Given the description of an element on the screen output the (x, y) to click on. 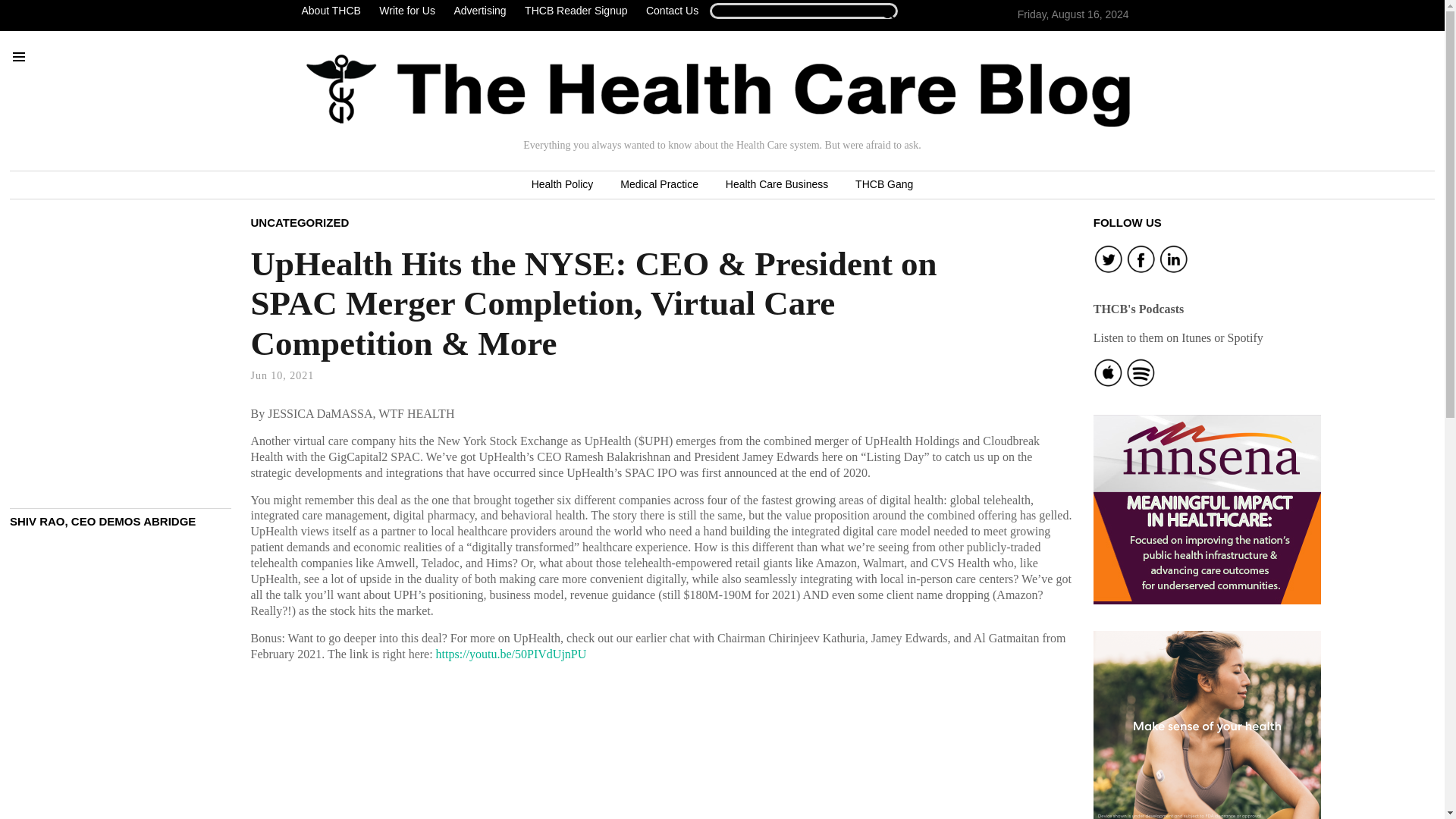
THCB Gang (883, 184)
Medical Practice (659, 184)
UNCATEGORIZED (299, 221)
Home (718, 90)
Health Care Business (776, 184)
About THCB (334, 10)
Write for Us (406, 10)
Advertising (479, 10)
THCB Reader Signup (575, 10)
Contact Us (672, 10)
